Given the description of an element on the screen output the (x, y) to click on. 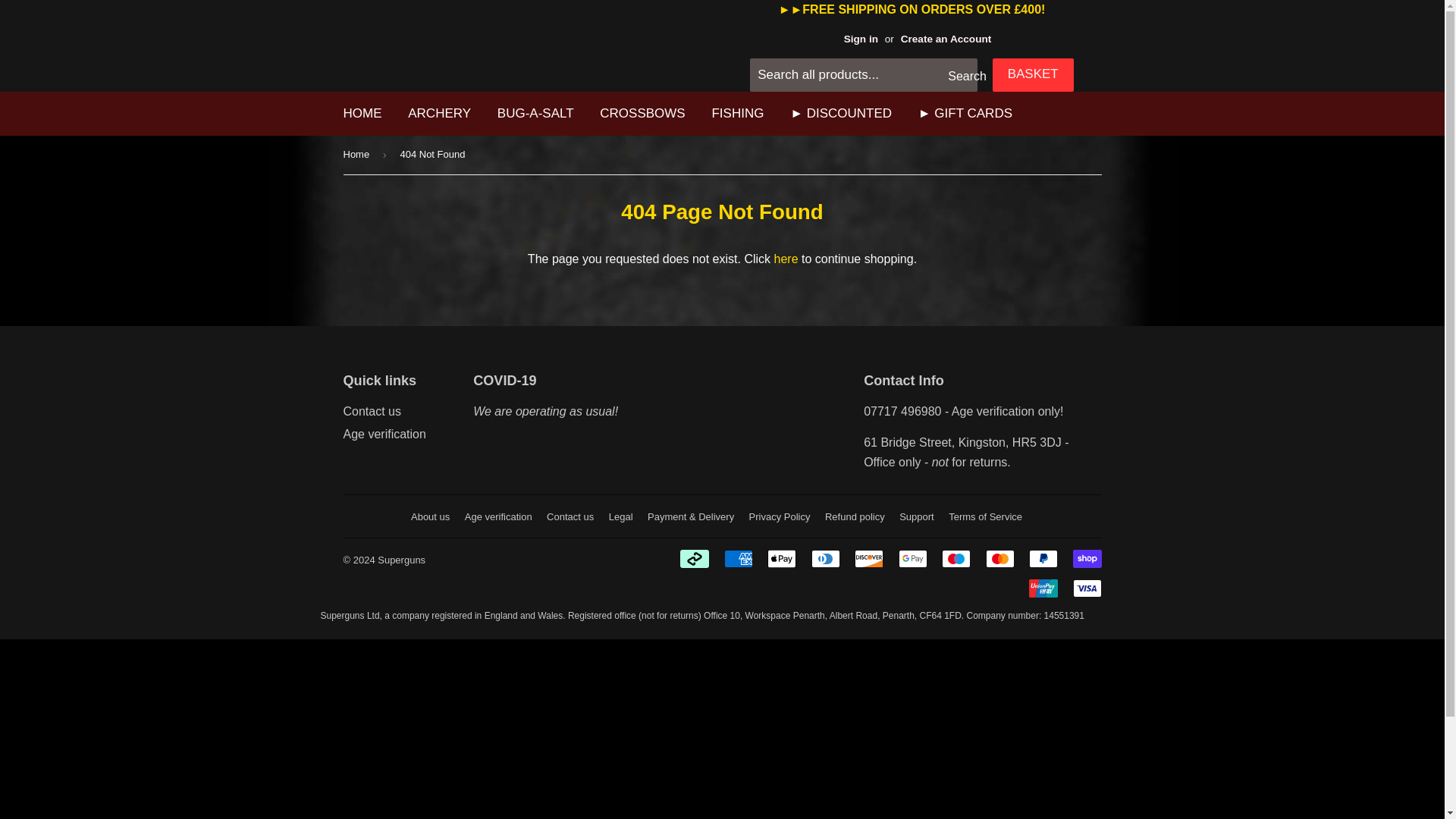
Union Pay (1043, 588)
PayPal (1043, 558)
Visa (1085, 588)
Sign in (860, 39)
Maestro (956, 558)
Shop Pay (1085, 558)
Diners Club (825, 558)
Mastercard (999, 558)
Google Pay (912, 558)
BASKET (1033, 74)
